Given the description of an element on the screen output the (x, y) to click on. 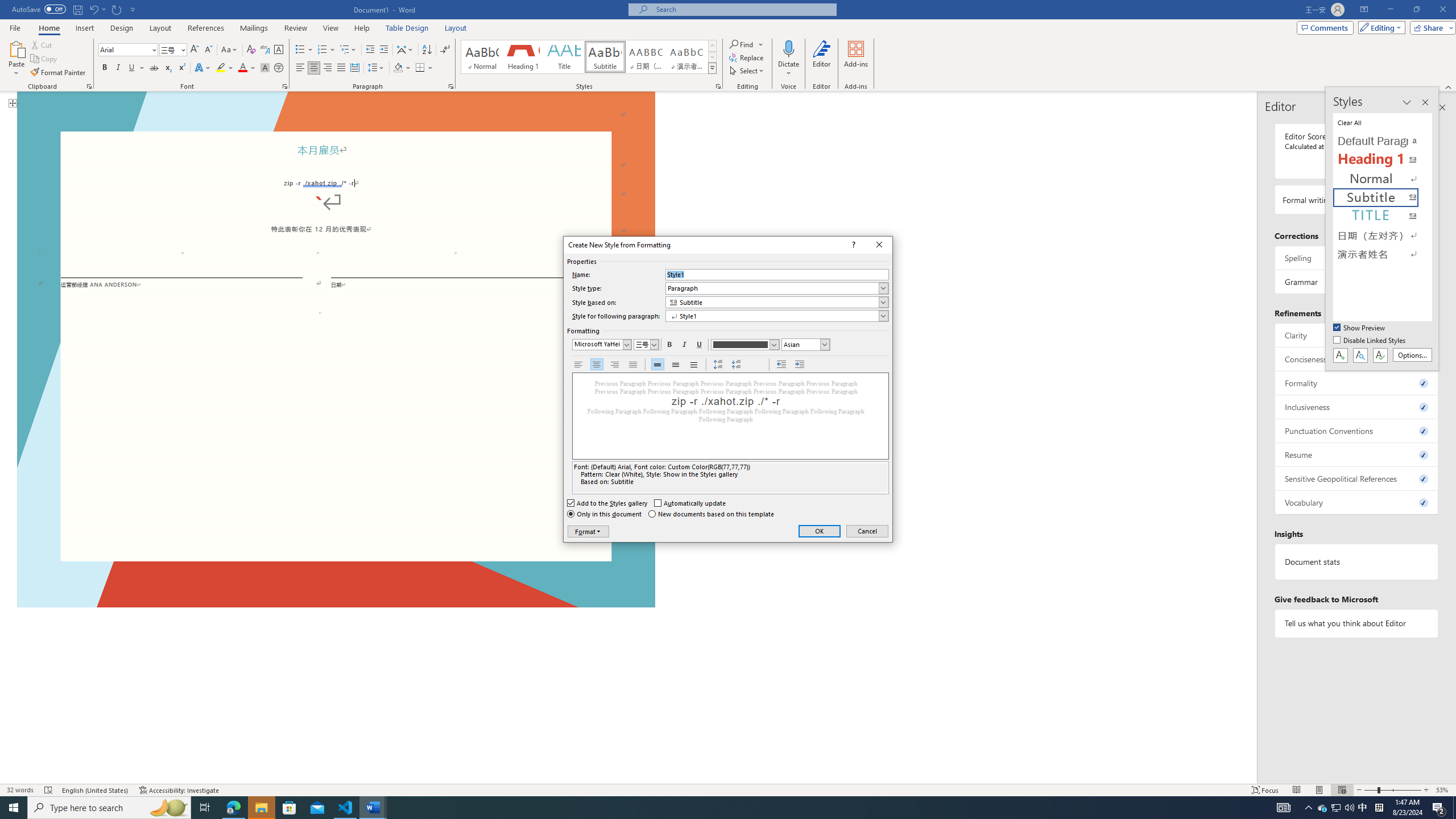
Microsoft Edge - 1 running window (233, 807)
Default Paragraph Font (1382, 140)
Grammar, 1 issue. Press space or enter to review items. (1356, 281)
Style type: (777, 287)
New documents based on this template (711, 513)
